Given the description of an element on the screen output the (x, y) to click on. 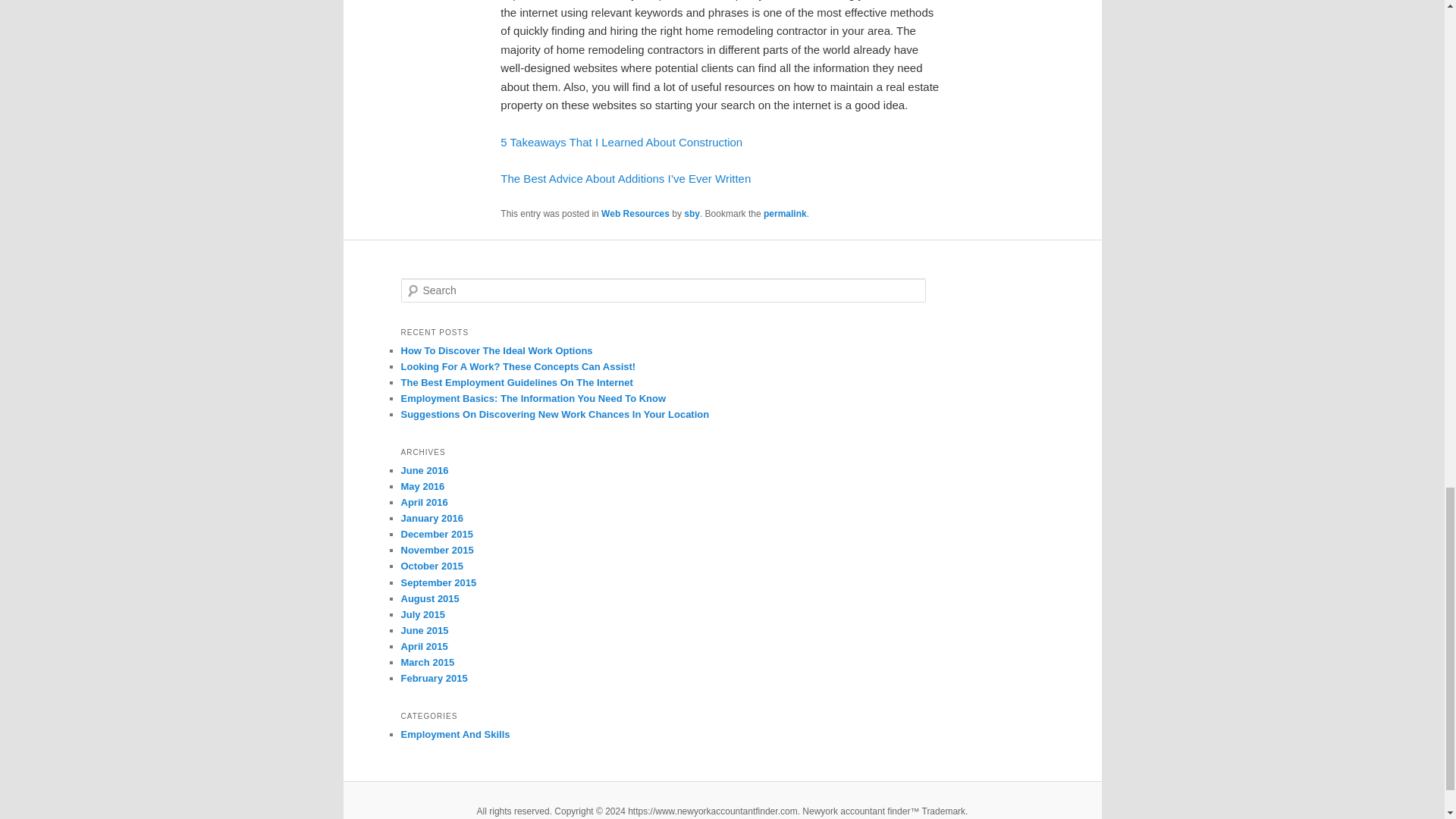
February 2015 (433, 677)
July 2015 (422, 614)
Looking For A Work? These Concepts Can Assist! (517, 366)
April 2016 (423, 501)
permalink (784, 213)
August 2015 (429, 598)
October 2015 (431, 565)
March 2015 (427, 662)
Web Resources (635, 213)
December 2015 (435, 533)
